Given the description of an element on the screen output the (x, y) to click on. 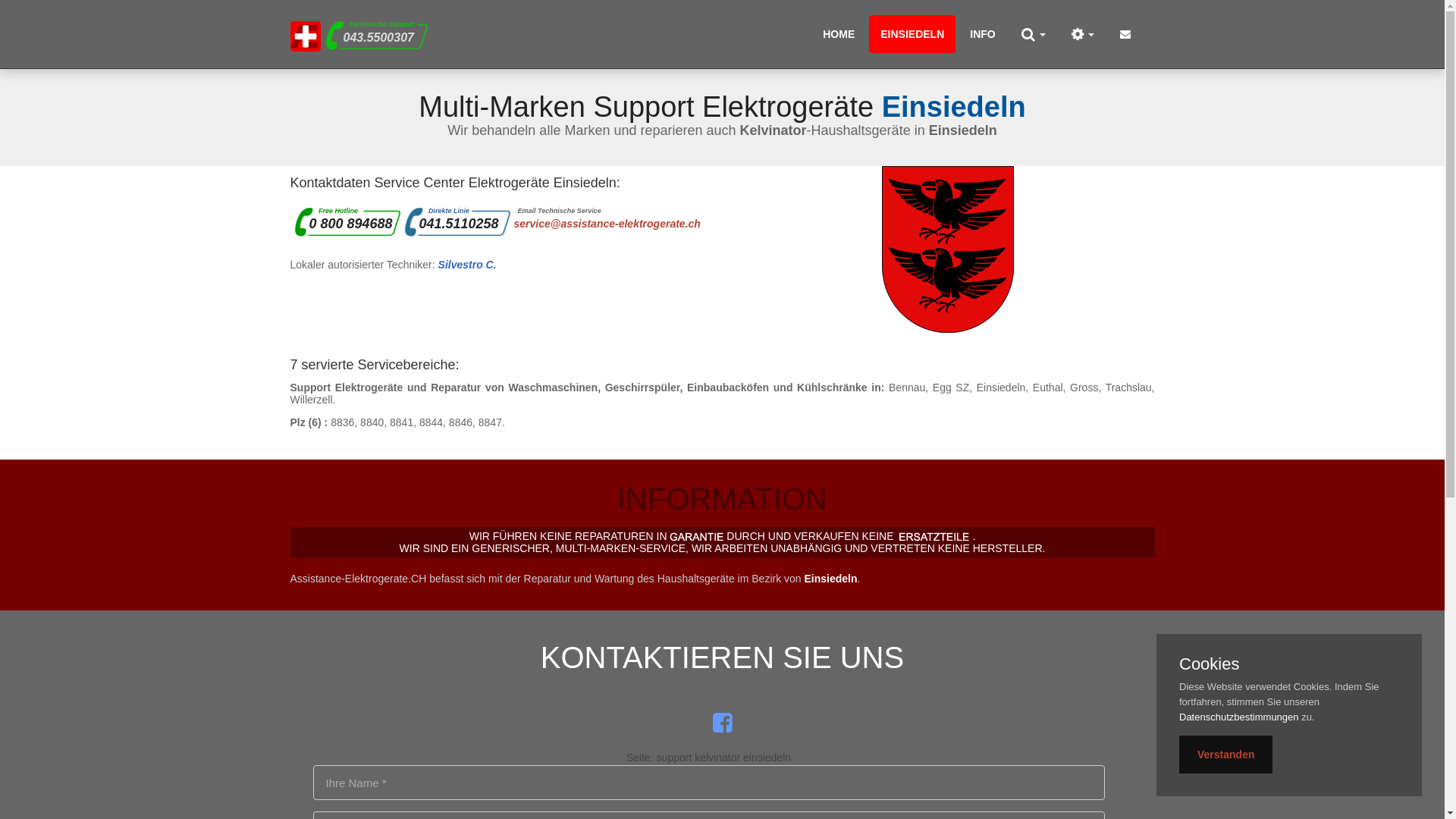
041.5110258 Element type: text (458, 223)
Folge uns auf facebook Element type: hover (721, 722)
service@assistance-elektrogerate.ch Element type: text (607, 223)
Kontakt Element type: hover (1125, 34)
HOME Element type: text (838, 34)
0 800 894688 Element type: text (350, 223)
INFO Element type: text (982, 34)
Datenschutzbestimmungen Element type: text (1239, 716)
Suche Element type: hover (1033, 34)
Kelvinator -  Service und Reparaturen in  Einsiedeln Element type: hover (304, 34)
Verstanden Element type: text (1225, 754)
technische Angelegenheiten Element type: hover (1082, 34)
EINSIEDELN Element type: text (912, 34)
043.5500307 Element type: text (377, 37)
